Given the description of an element on the screen output the (x, y) to click on. 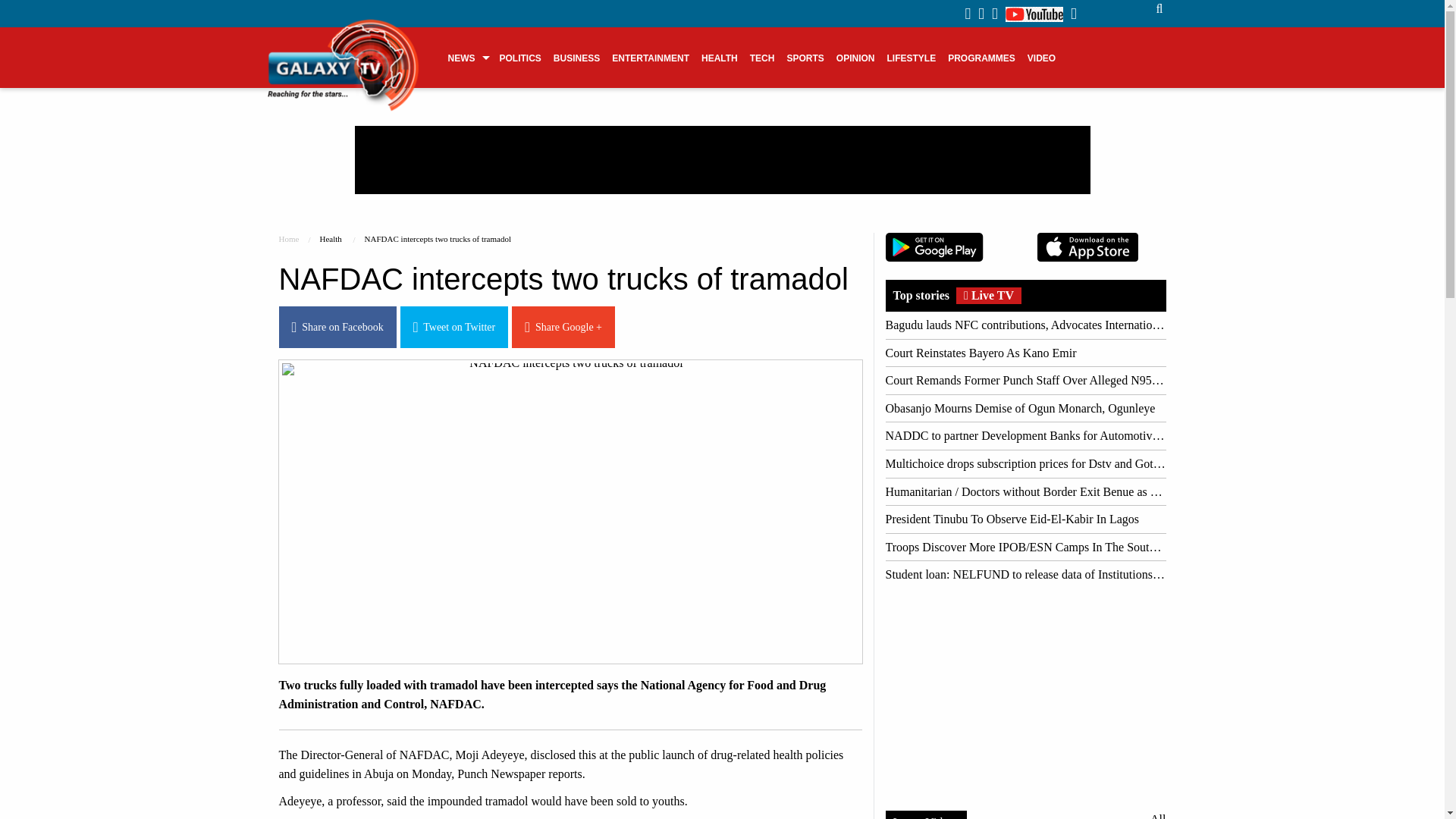
President Tinubu To Observe Eid-El-Kabir In Lagos (1025, 519)
Home (289, 238)
ENTERTAINMENT (650, 57)
BUSINESS (576, 57)
Health (329, 238)
 Tweet on Twitter (454, 326)
 Share on Facebook (337, 326)
PROGRAMMES (982, 57)
Court Reinstates Bayero As Kano Emir (1025, 353)
Advertisement (722, 160)
Advertisement (1024, 695)
Obasanjo Mourns Demise of Ogun Monarch, Ogunleye (1025, 408)
